Given the description of an element on the screen output the (x, y) to click on. 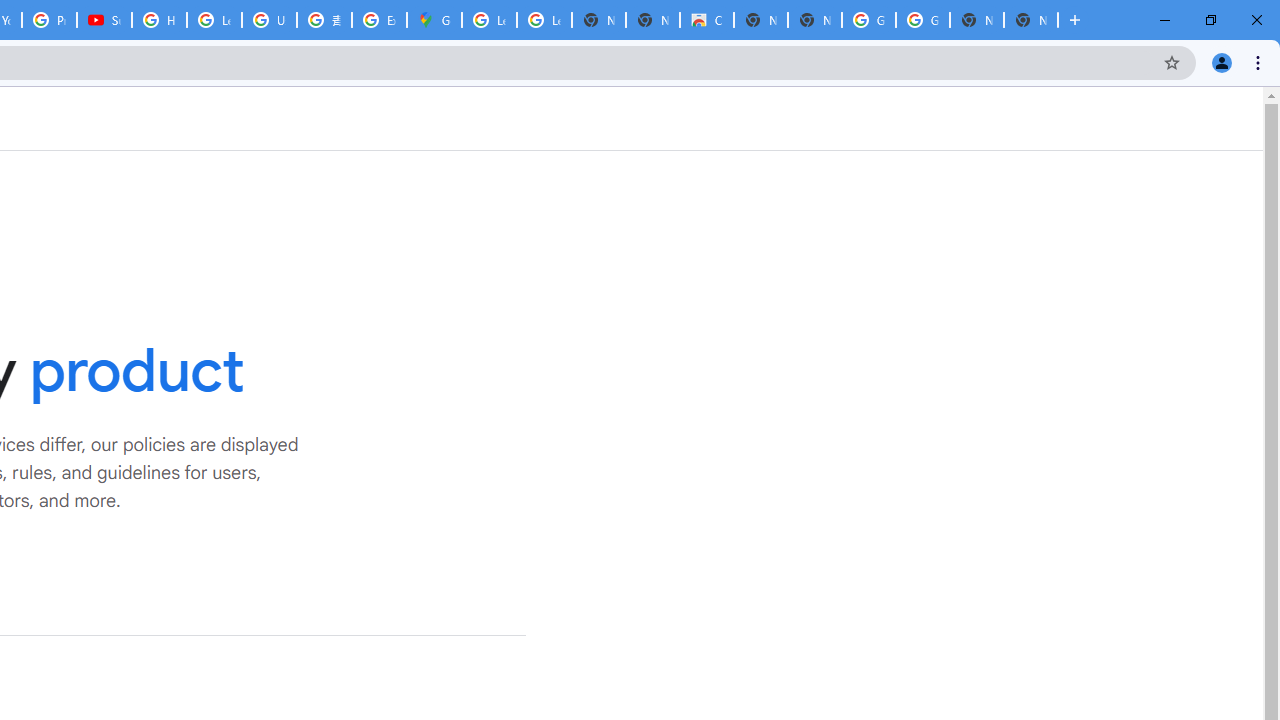
Subscriptions - YouTube (103, 20)
